Given the description of an element on the screen output the (x, y) to click on. 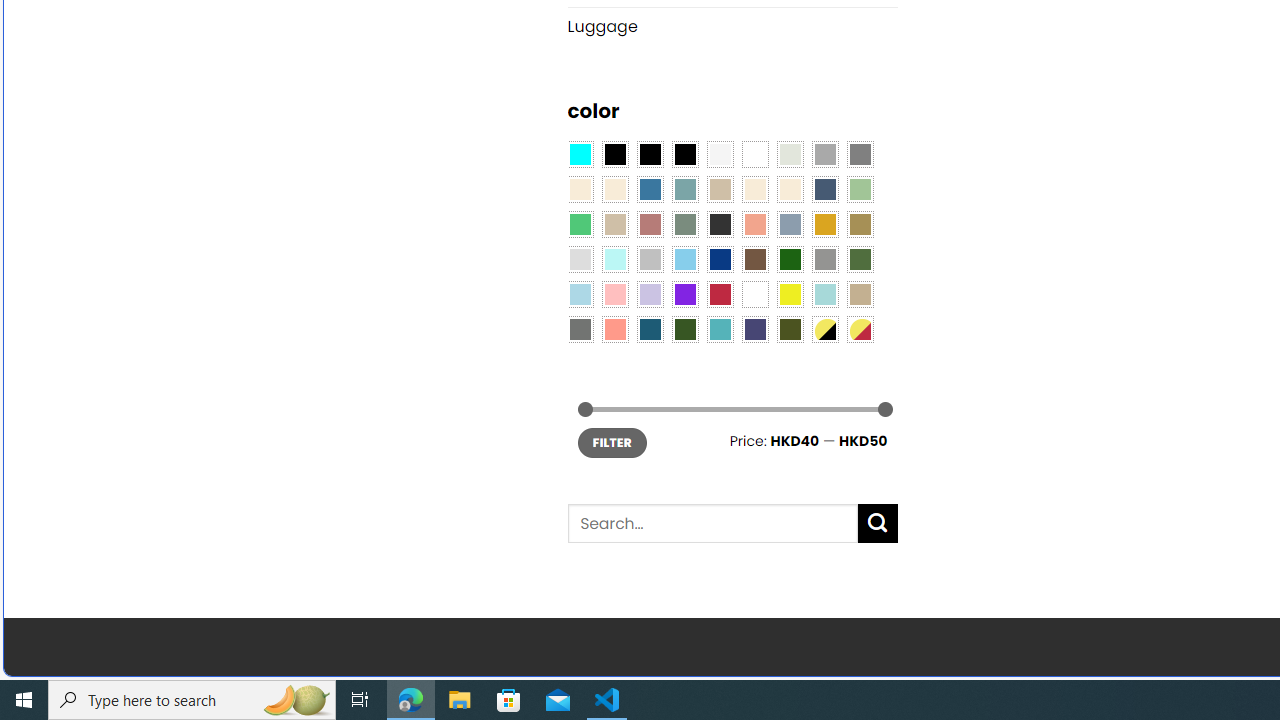
Light Blue (579, 295)
Red (719, 295)
Cream (789, 190)
Light Green (859, 190)
Luggage (732, 26)
Teal (719, 329)
All Black (614, 154)
Navy Blue (719, 259)
Green (859, 259)
Rose (650, 224)
Submit (877, 523)
Yellow (789, 295)
Gold (824, 224)
Army Green (789, 329)
Pearly White (719, 154)
